Given the description of an element on the screen output the (x, y) to click on. 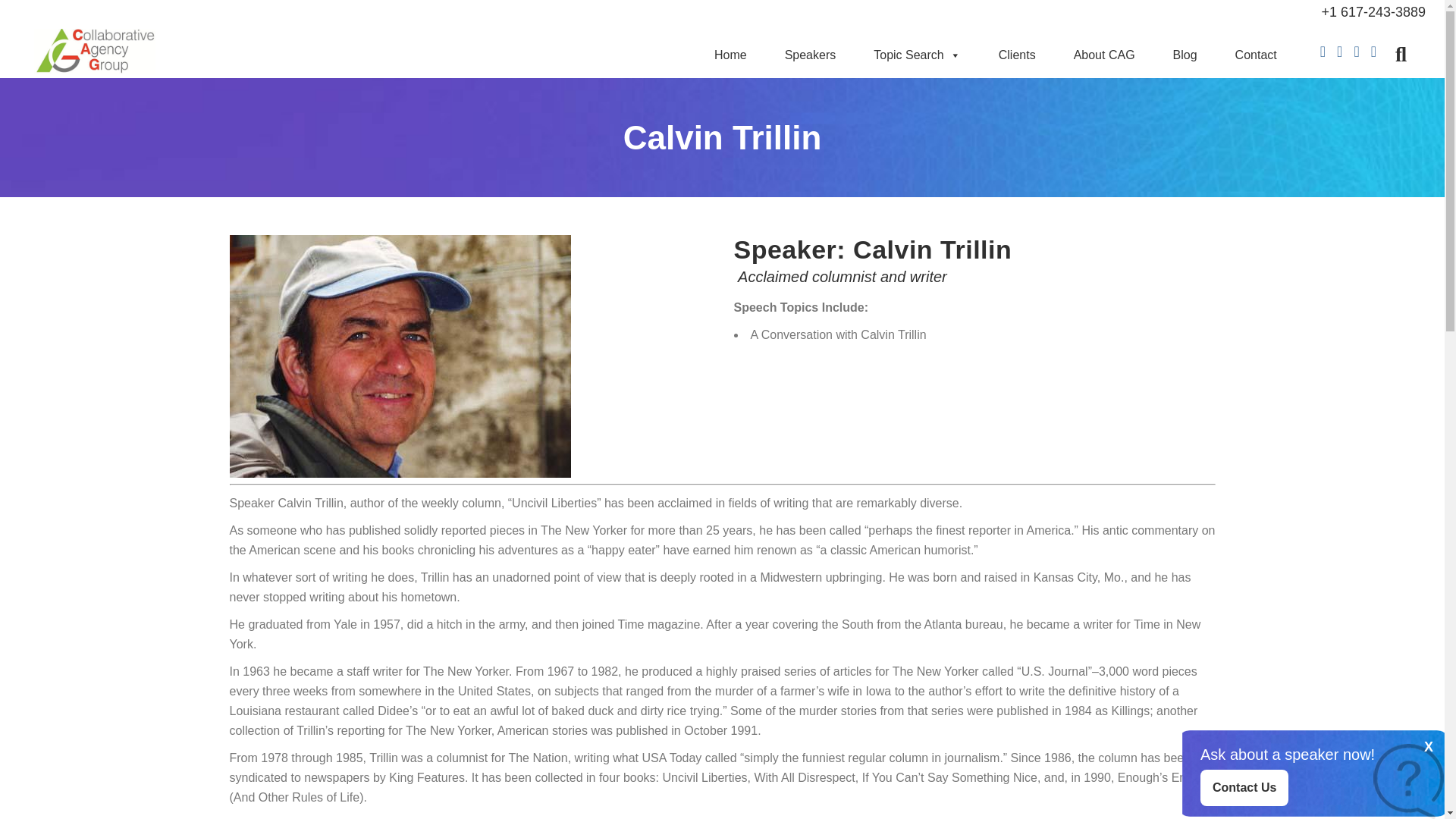
Speakers (810, 54)
Home (730, 54)
Topic Search (917, 54)
trillin calvin (399, 356)
